Given the description of an element on the screen output the (x, y) to click on. 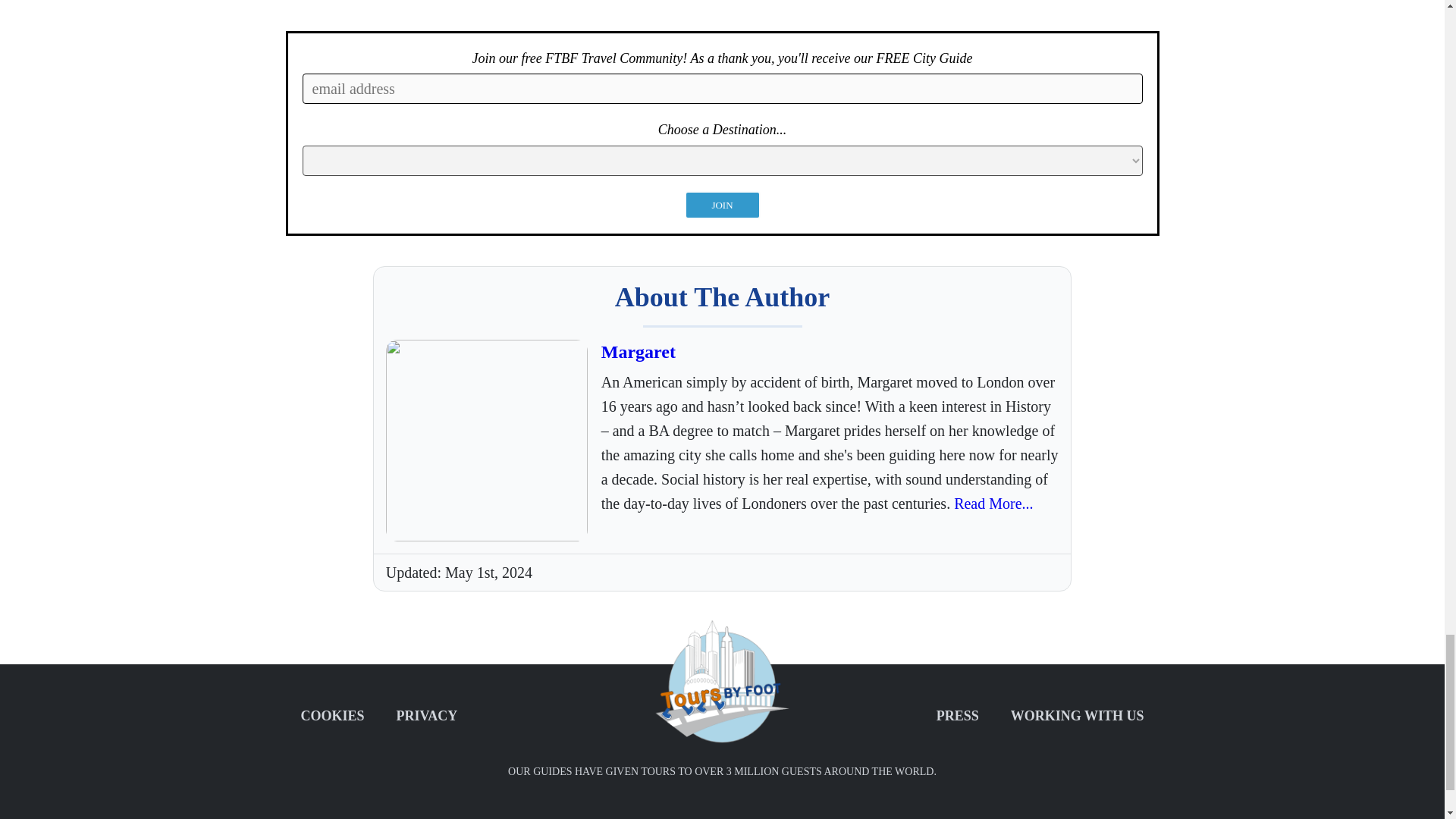
JOIN (722, 204)
